Given the description of an element on the screen output the (x, y) to click on. 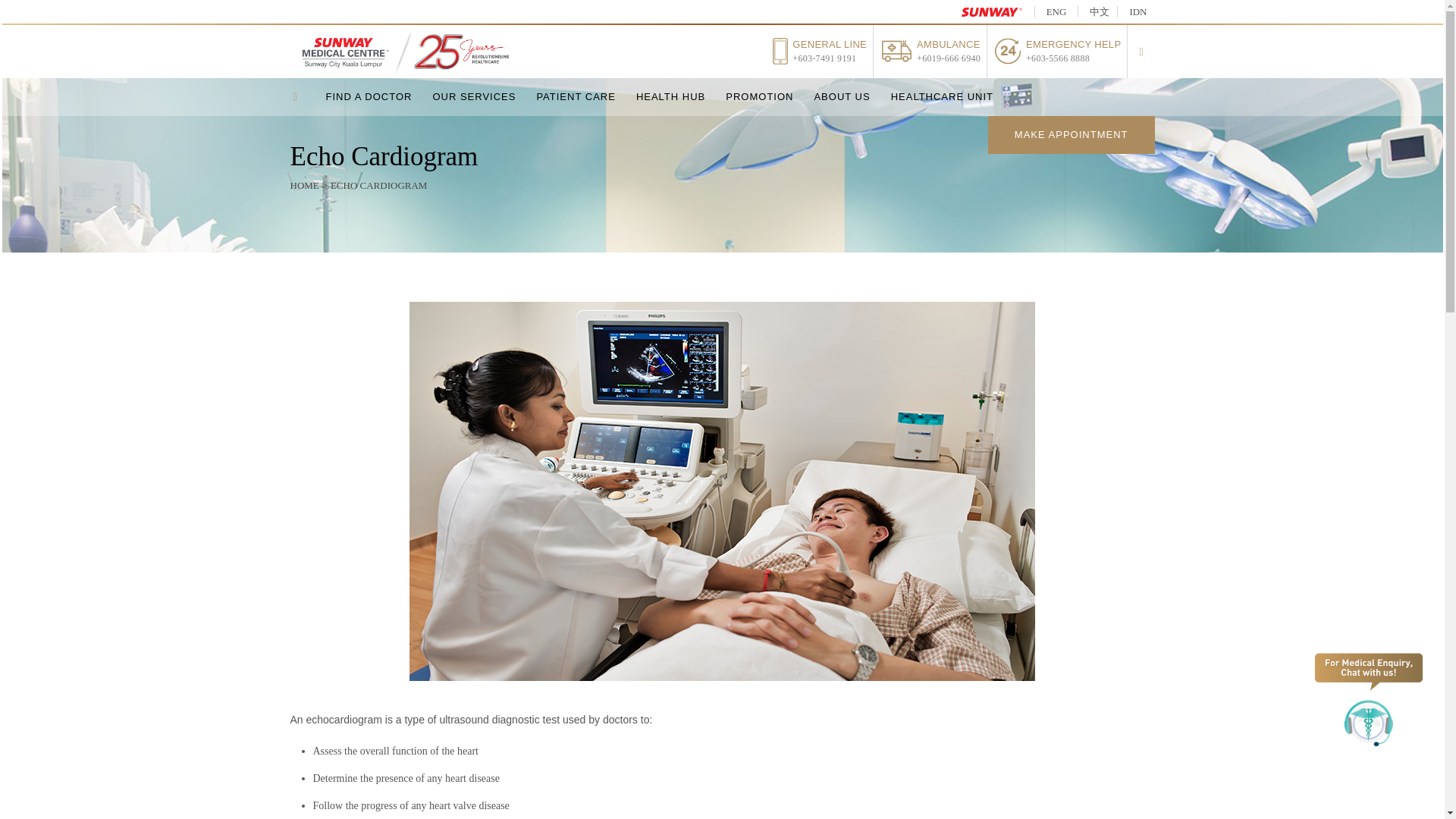
IDN (1135, 11)
FIND A DOCTOR (378, 96)
OUR SERVICES (483, 96)
ENG (1055, 11)
